Given the description of an element on the screen output the (x, y) to click on. 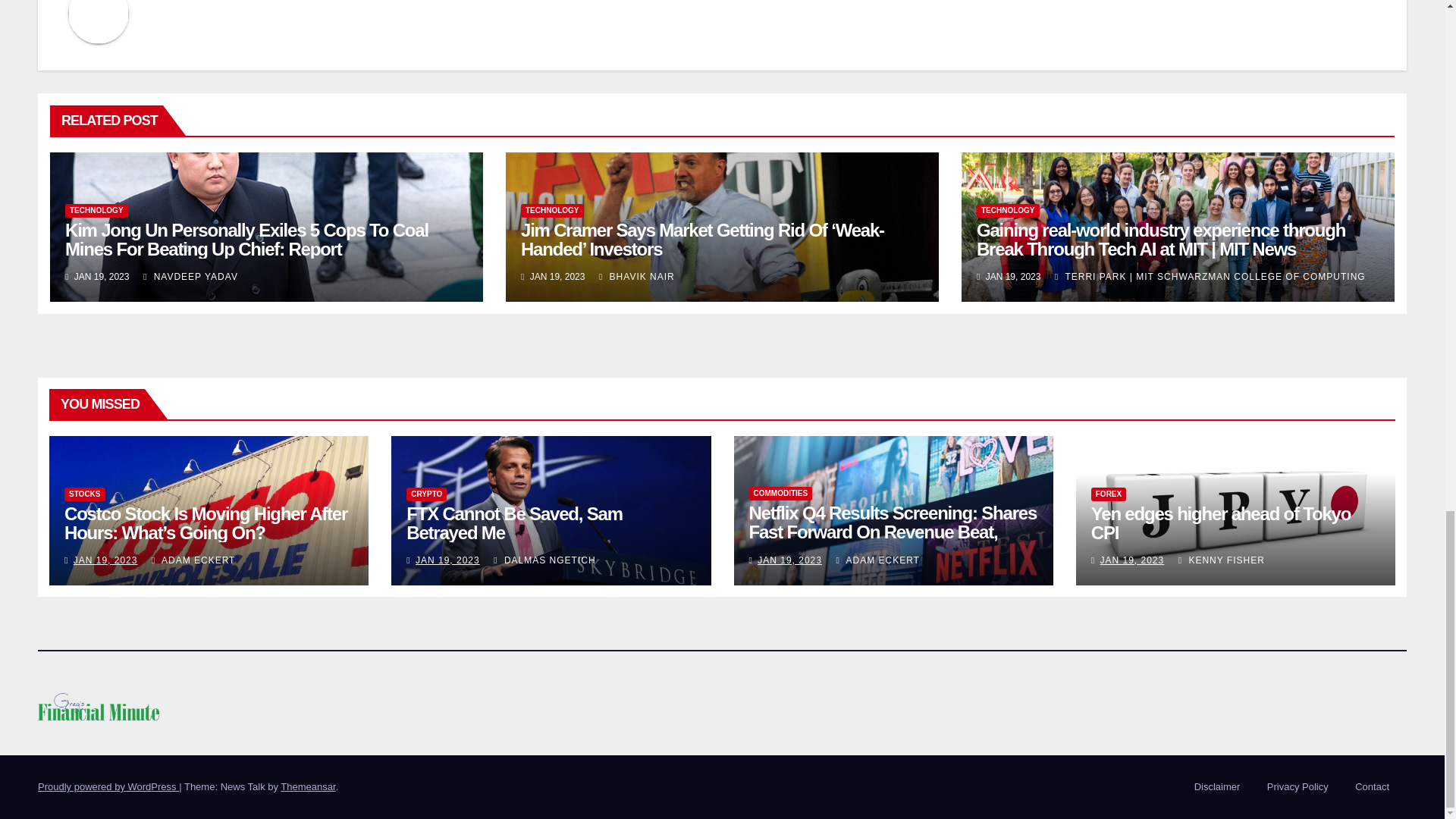
Disclaimer (1217, 786)
NAVDEEP YADAV (190, 276)
TECHNOLOGY (552, 210)
Permalink to: Yen edges higher ahead of Tokyo CPI (1220, 522)
TECHNOLOGY (1007, 210)
BHAVIK NAIR (636, 276)
TECHNOLOGY (96, 210)
Permalink to: FTX Cannot Be Saved, Sam Betrayed Me (514, 522)
